Given the description of an element on the screen output the (x, y) to click on. 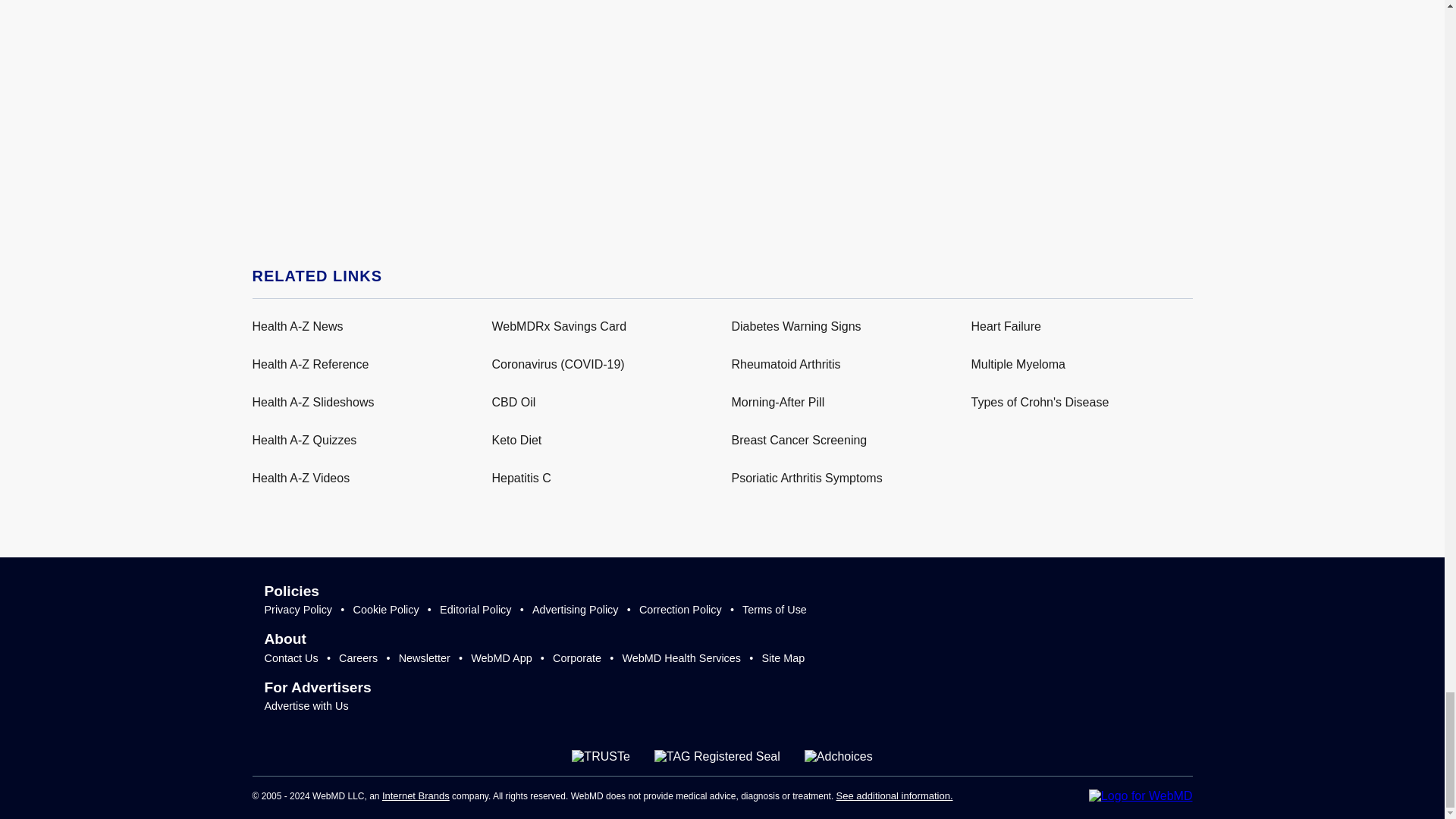
TAG Registered Seal (716, 756)
TRUSTe Privacy Certification (600, 756)
WebMD: Better information. Better health. (1140, 796)
Adchoices (838, 756)
